Given the description of an element on the screen output the (x, y) to click on. 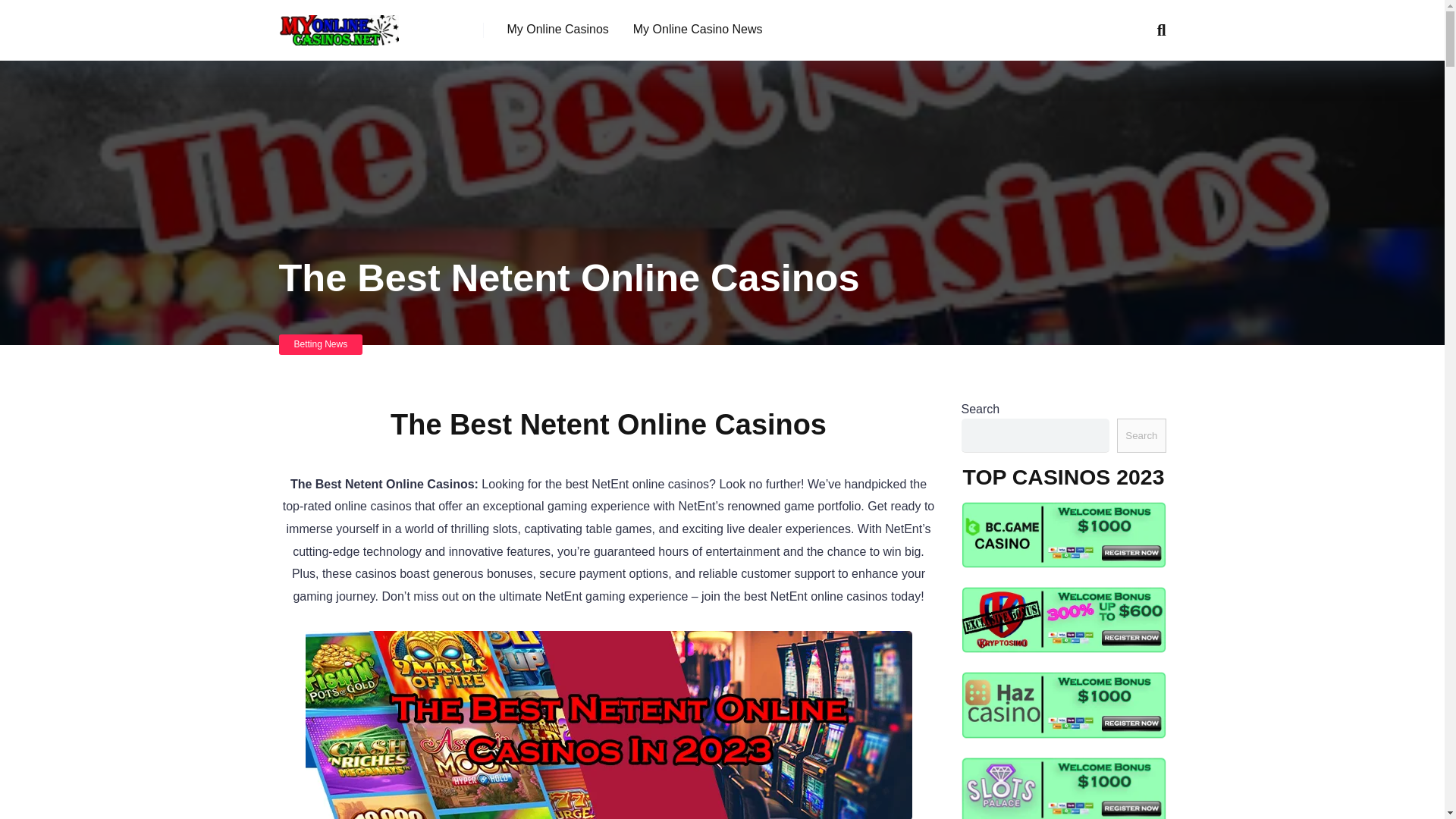
Betting News (320, 344)
My Online Casinos (557, 30)
My Online Casino News (697, 30)
myonlinecasinos.net (338, 24)
